Given the description of an element on the screen output the (x, y) to click on. 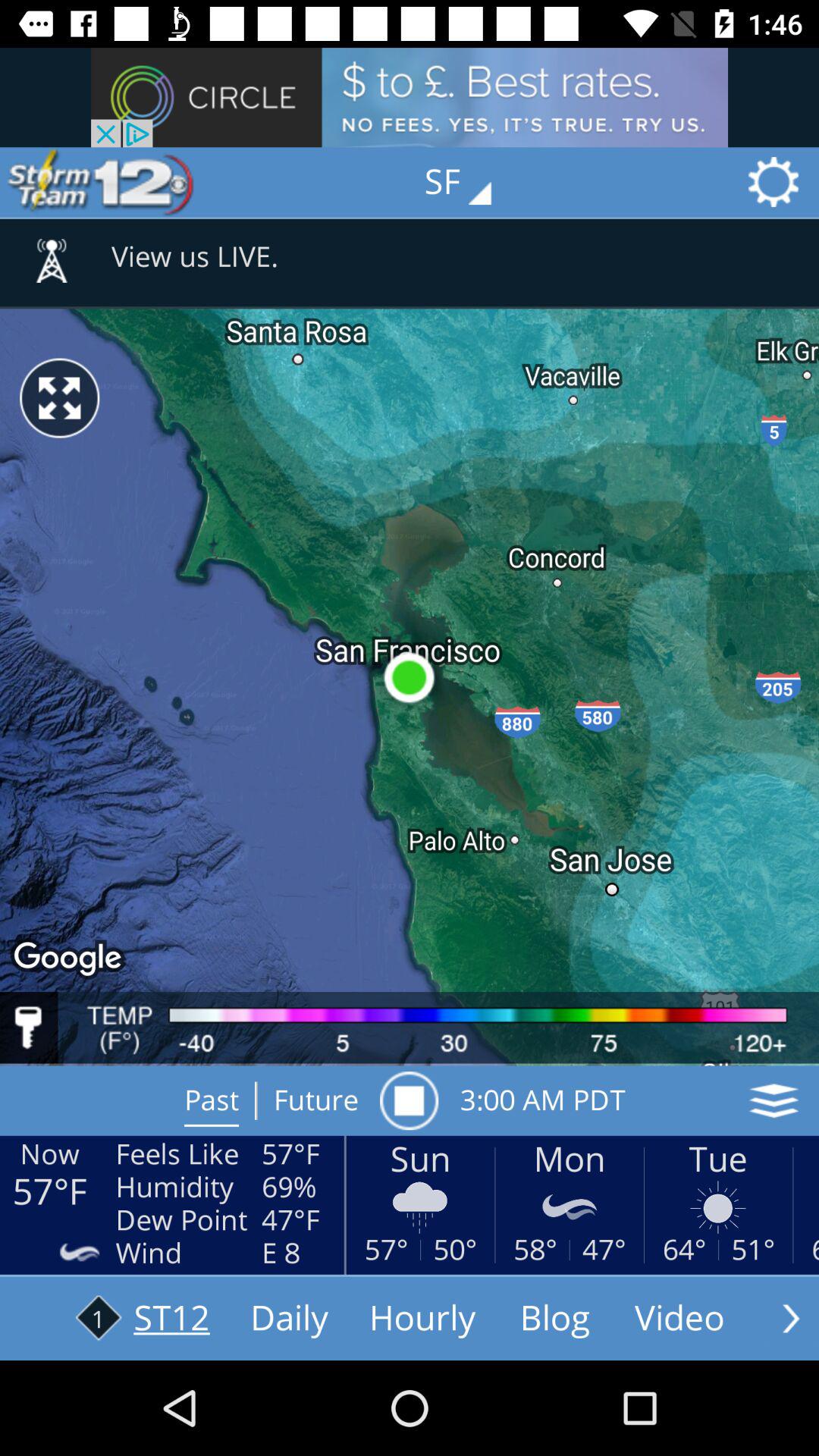
open item above the sun item (409, 1100)
